Given the description of an element on the screen output the (x, y) to click on. 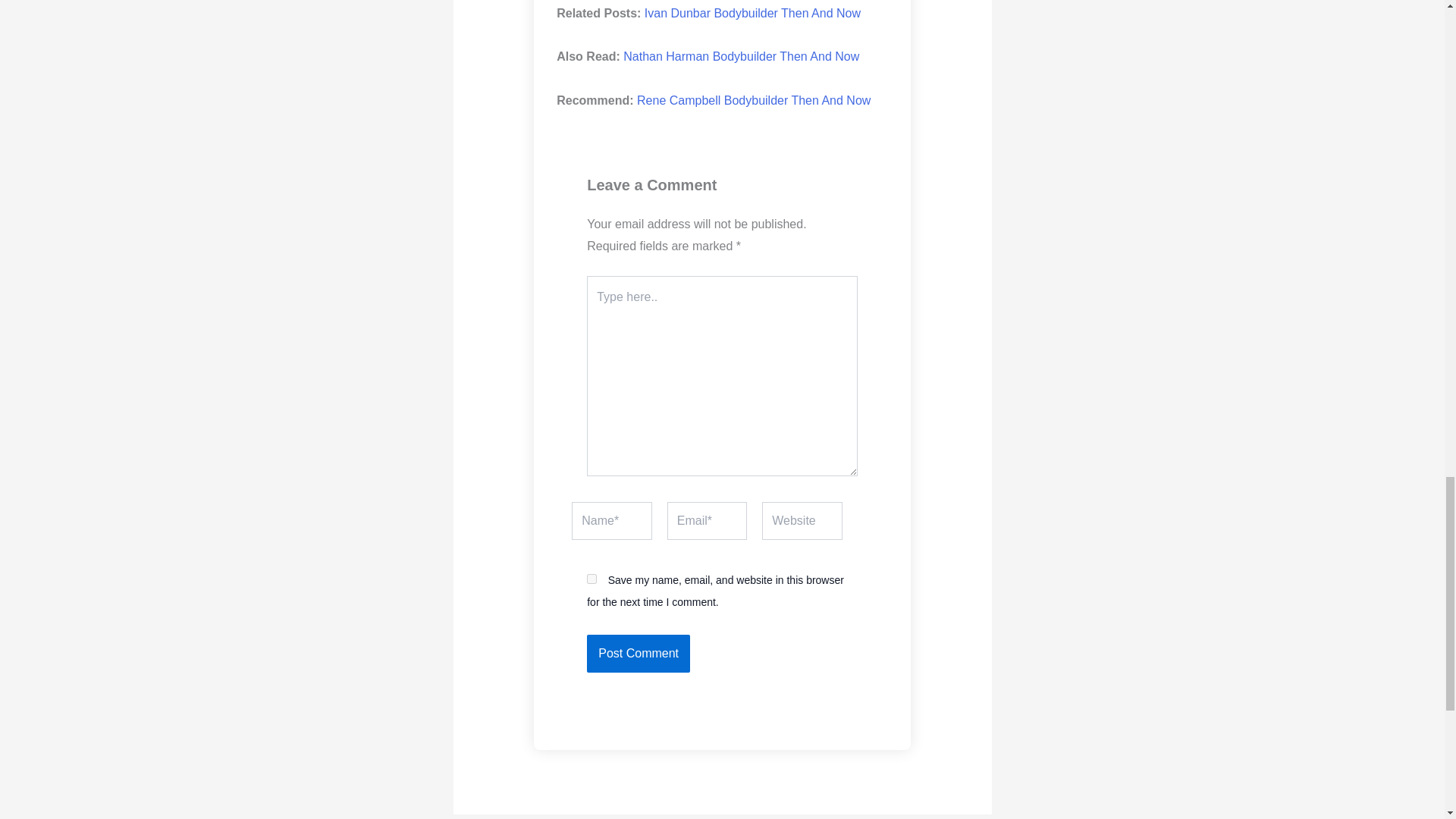
Post Comment (638, 653)
yes (591, 578)
